Given the description of an element on the screen output the (x, y) to click on. 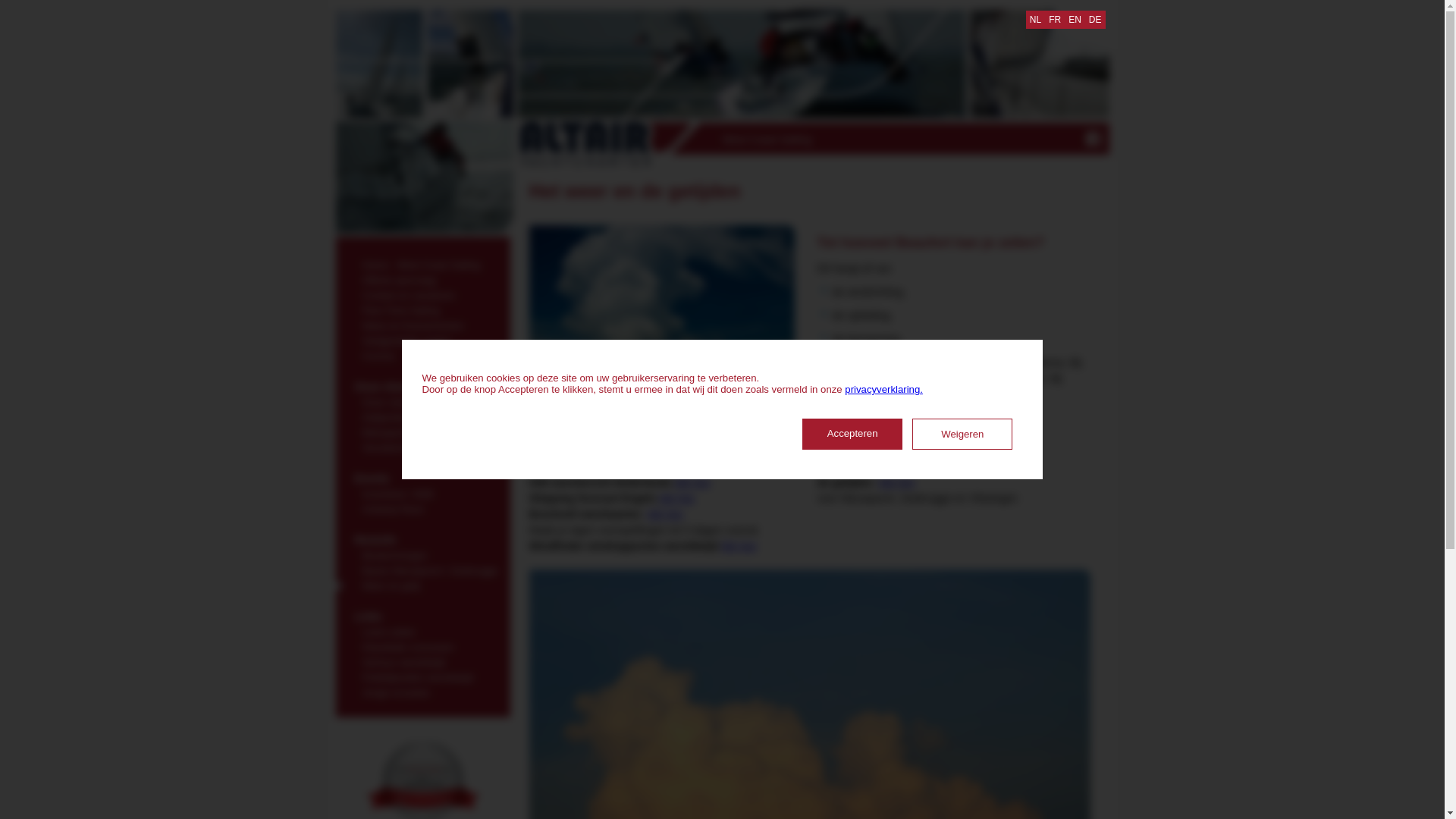
Weer en getij Element type: text (422, 583)
Onze Jeanneau jachten Element type: text (422, 399)
klik hier Element type: text (896, 482)
klik hier Element type: text (676, 498)
zwaar wolkendek Element type: hover (661, 324)
Corona Element type: text (422, 353)
Zeiljachten prijzen Element type: text (422, 415)
Contact en vacatures Element type: text (422, 293)
Klassikale cursussen Element type: text (422, 644)
klik hier Element type: text (738, 545)
EN Element type: text (1074, 19)
NL Element type: text (1035, 19)
Flexi Time Sailing Element type: text (422, 308)
Antwerp Race Element type: text (422, 506)
Jonge occasies Element type: text (422, 690)
DE Element type: text (1095, 19)
Veelgestelde vragen Element type: text (422, 338)
Bestemmingen Element type: text (422, 553)
Verzekering / Kwaliteitgarantie Element type: text (422, 445)
Offerte aanvraag Element type: text (422, 277)
Home - West Coast Sailing Element type: text (422, 262)
Accepteren Element type: text (852, 433)
klik hier Element type: text (665, 514)
Motorjachten Element type: text (422, 430)
News en Evenementen Element type: text (422, 323)
Incentives / B2B Element type: text (422, 491)
Weigeren Element type: text (962, 433)
privacyverklaring. Element type: text (883, 389)
Leren zeilen Element type: text (422, 629)
Verhuur wereldwijd Element type: text (422, 660)
Flottieljezeilen wereldwijd Element type: text (422, 675)
Facebook Element type: hover (1093, 138)
klik hier Element type: text (692, 482)
FR Element type: text (1054, 19)
Bases Nieuwpoort / Zeebrugge Element type: text (422, 568)
